Given the description of an element on the screen output the (x, y) to click on. 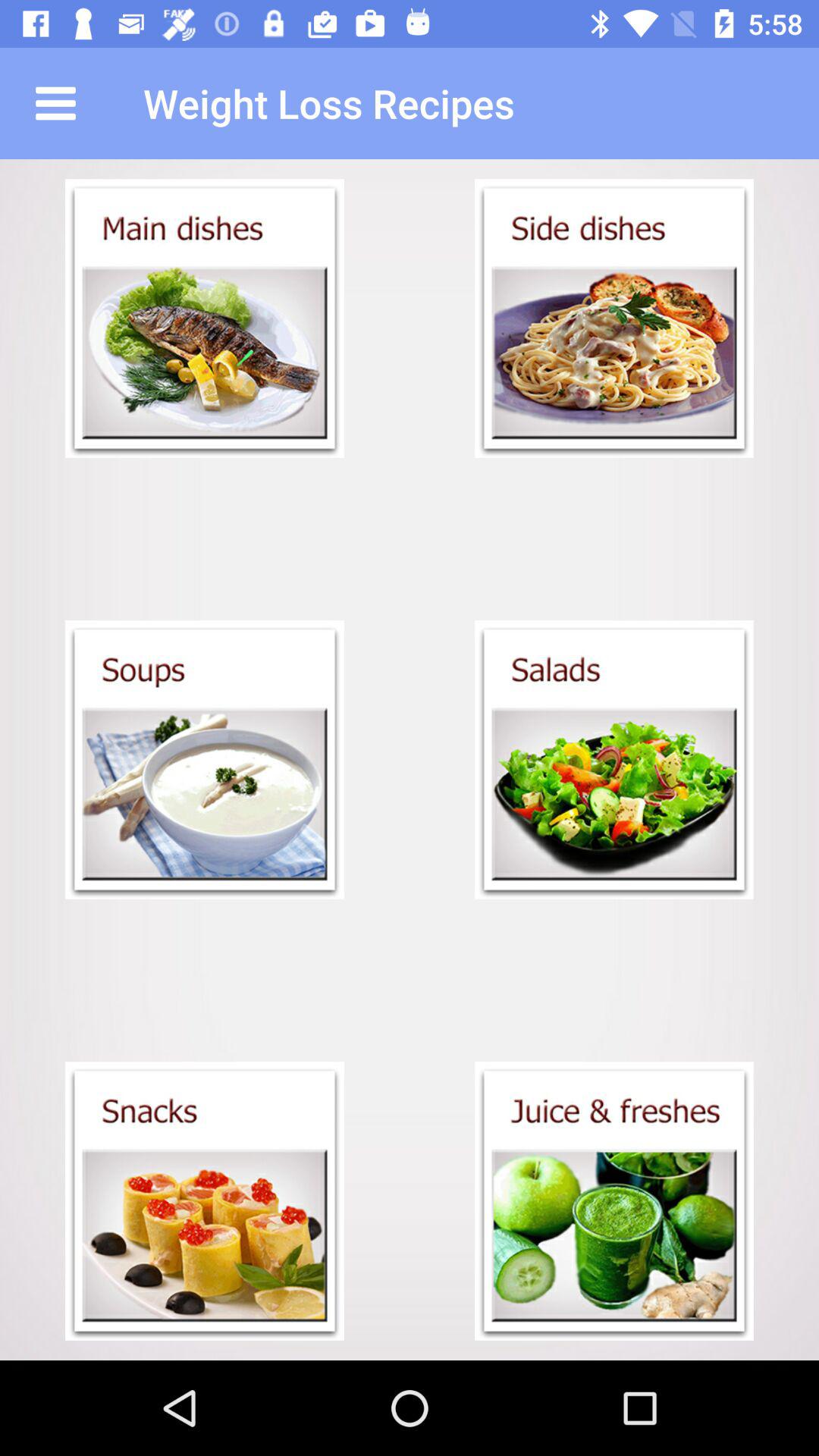
choose option (614, 759)
